Given the description of an element on the screen output the (x, y) to click on. 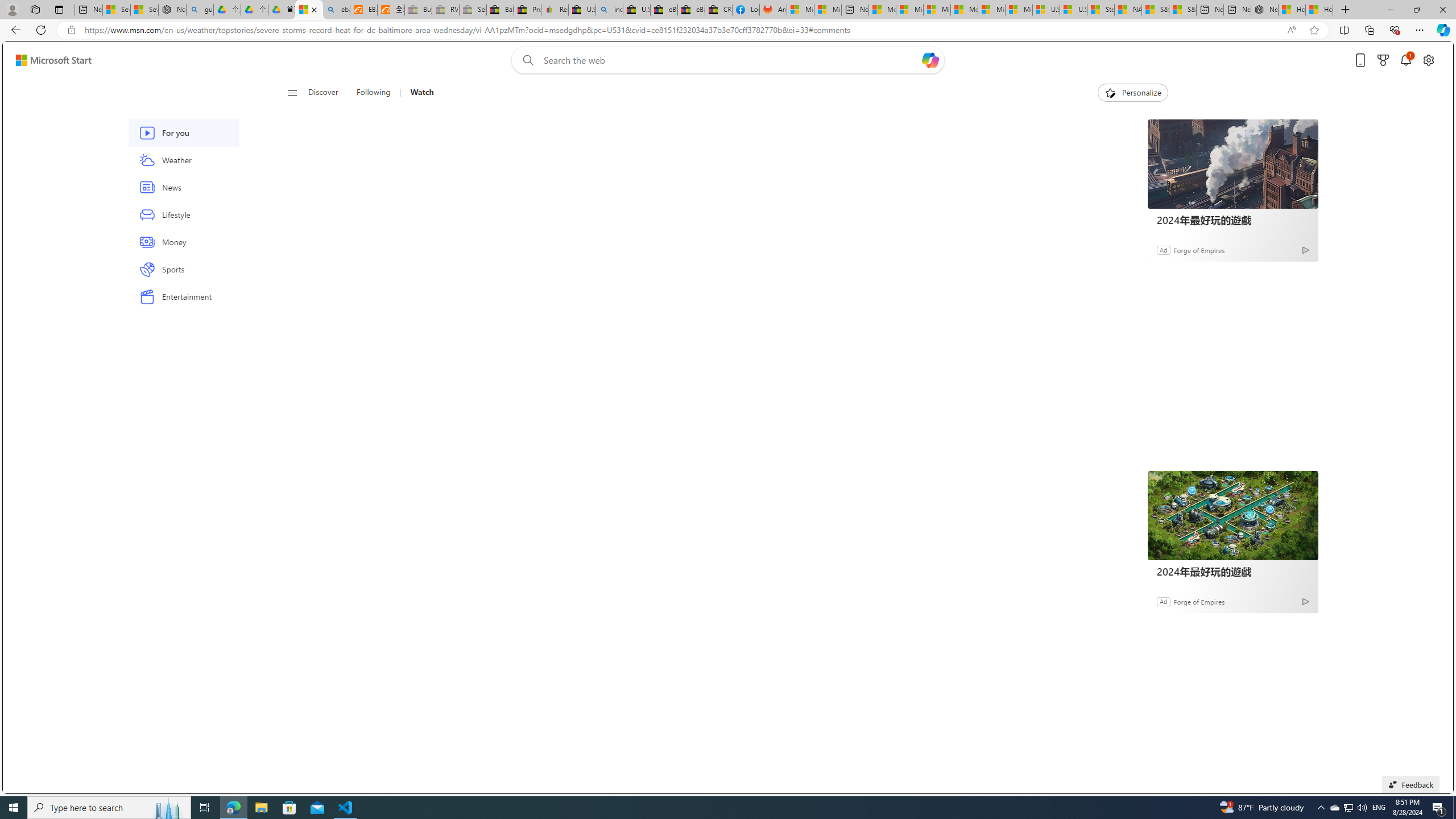
Web search (526, 60)
S&P 500, Nasdaq end lower, weighed by Nvidia dip | Watch (1182, 9)
How to Use a Monitor With Your Closed Laptop (1319, 9)
Press Room - eBay Inc. (527, 9)
Open settings (1427, 60)
To get missing image descriptions, open the context menu. (1109, 92)
